Given the description of an element on the screen output the (x, y) to click on. 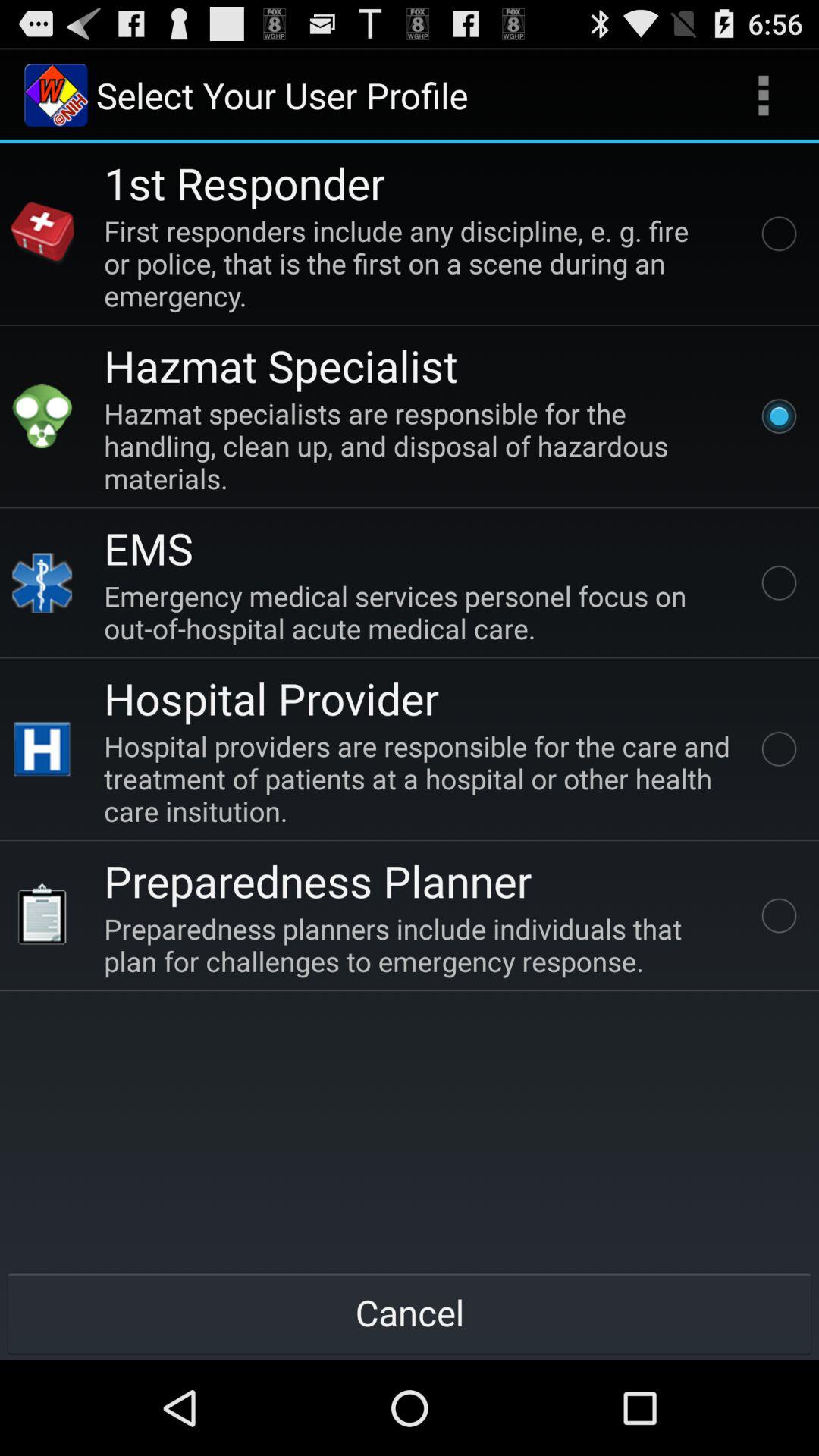
swipe to the 1st responder item (244, 182)
